Given the description of an element on the screen output the (x, y) to click on. 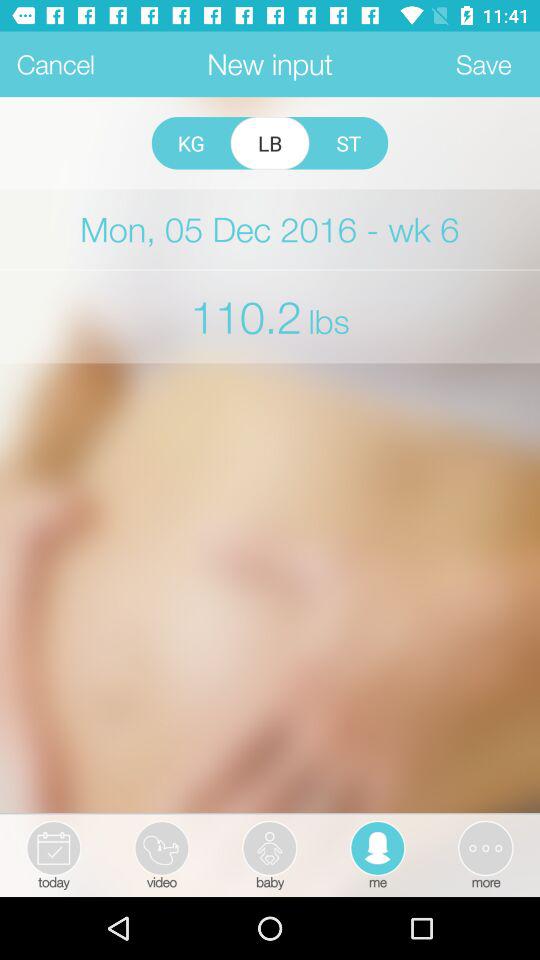
turn on item to the right of the kg (269, 143)
